Given the description of an element on the screen output the (x, y) to click on. 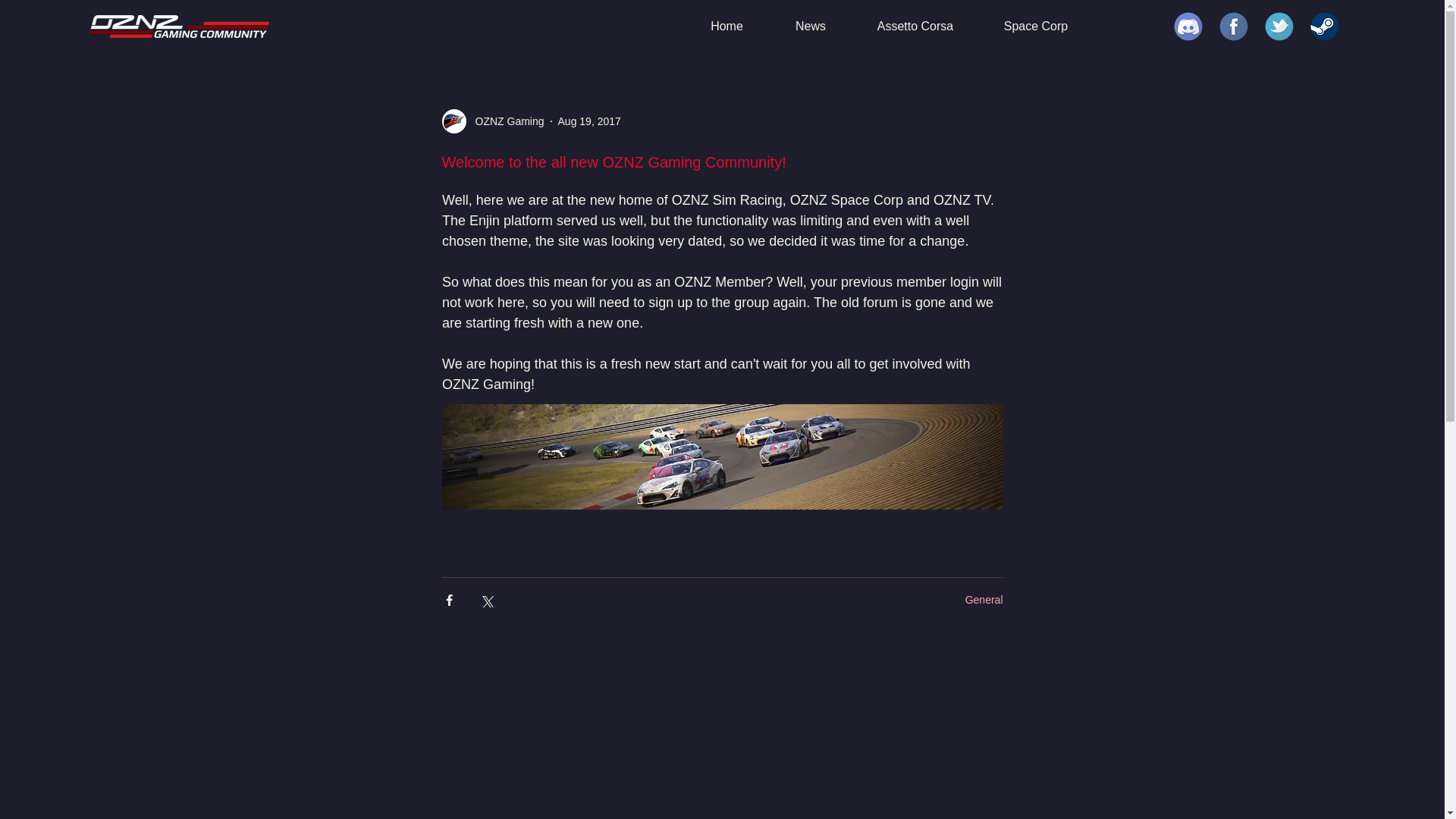
General (984, 599)
Embedded Content (452, 26)
OZNZ Gaming (504, 121)
Space Corp (1035, 26)
Welcome to the all new OZNZ Gaming Community! (613, 161)
Aug 19, 2017 (589, 121)
Home (726, 26)
News (809, 26)
Assetto Corsa (914, 26)
